Given the description of an element on the screen output the (x, y) to click on. 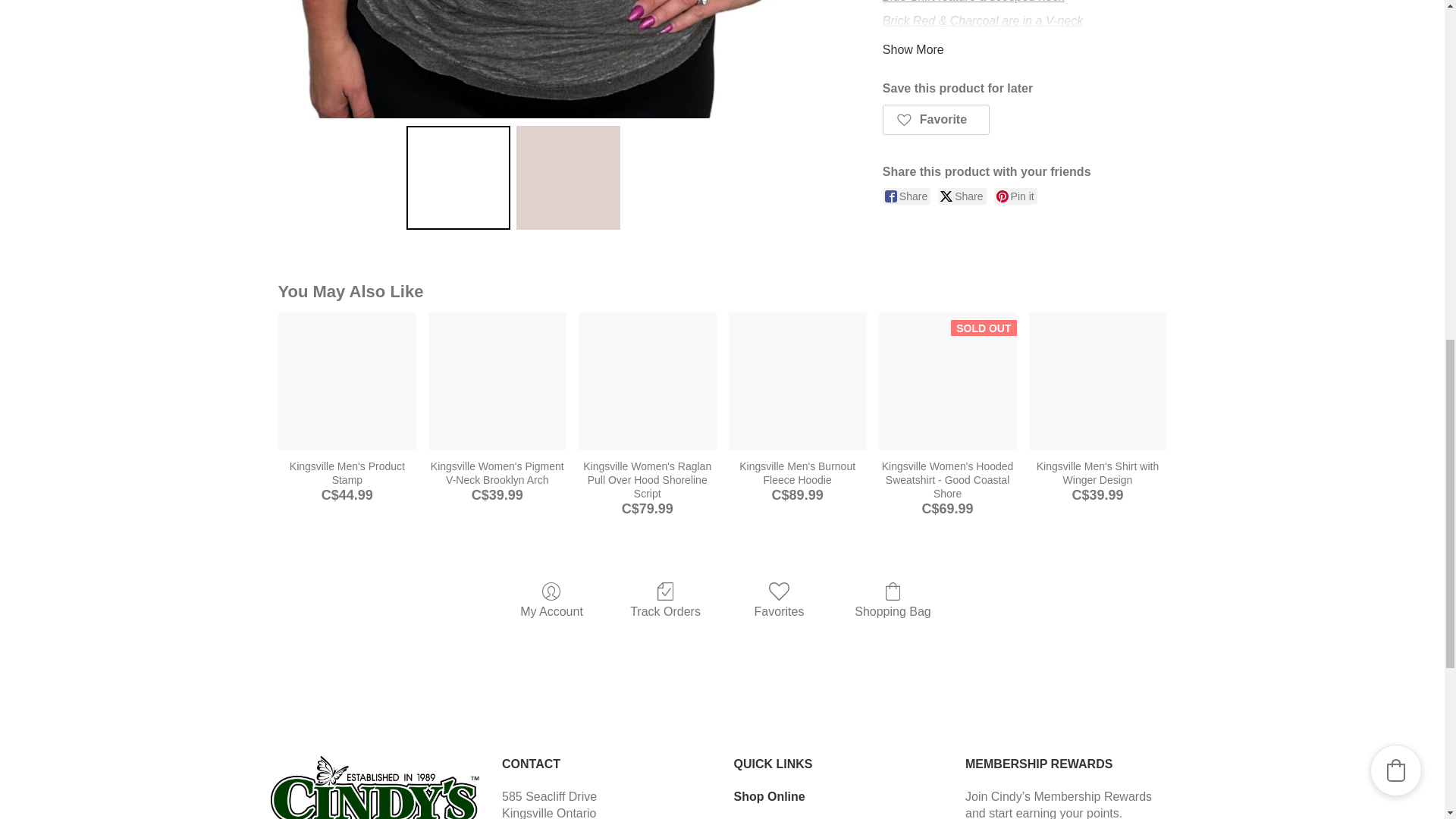
Kingsville Men's Product Stamp (347, 381)
Kingsville Women's Pigment V-Neck Brooklyn Arch (497, 381)
Kingsville Women's Shirt - Butterfly (567, 58)
Kingsville Women's Raglan Pull Over Hood Shoreline Script (647, 381)
Kingsville Men's Burnout Fleece Hoodie (797, 381)
Kingsville Women's Hooded Sweatshirt - Good Coastal Shore (947, 381)
